Given the description of an element on the screen output the (x, y) to click on. 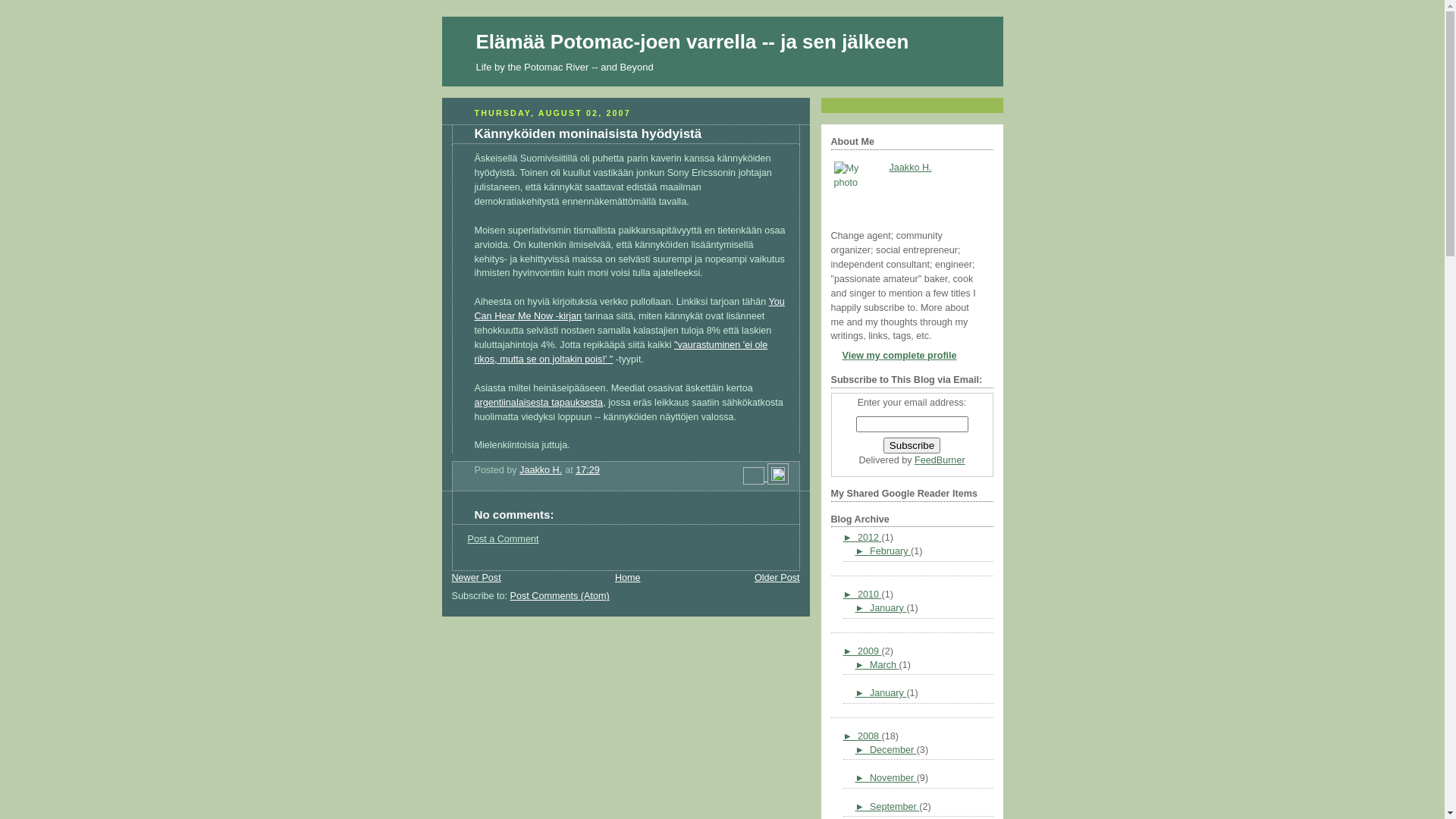
Older Post Element type: text (777, 577)
FeedBurner Element type: text (939, 460)
December Element type: text (892, 749)
Edit Post Element type: hover (777, 477)
You Can Hear Me Now -kirjan Element type: text (629, 308)
February Element type: text (889, 551)
argentiinalaisesta tapauksesta Element type: text (538, 402)
2012 Element type: text (869, 537)
January Element type: text (887, 692)
View my complete profile Element type: text (894, 355)
Post a Comment Element type: text (502, 538)
Post Comments (Atom) Element type: text (559, 595)
2009 Element type: text (869, 651)
Newer Post Element type: text (476, 577)
Jaakko H. Element type: text (540, 469)
Home Element type: text (627, 577)
"vaurastuminen 'ei ole rikos, mutta se on joltakin pois!' " Element type: text (621, 351)
November Element type: text (892, 777)
Subscribe Element type: text (911, 445)
March Element type: text (884, 664)
17:29 Element type: text (587, 469)
2010 Element type: text (869, 594)
Jaakko H. Element type: text (909, 167)
Email Post Element type: hover (755, 477)
January Element type: text (887, 607)
2008 Element type: text (869, 736)
September Element type: text (894, 806)
